Given the description of an element on the screen output the (x, y) to click on. 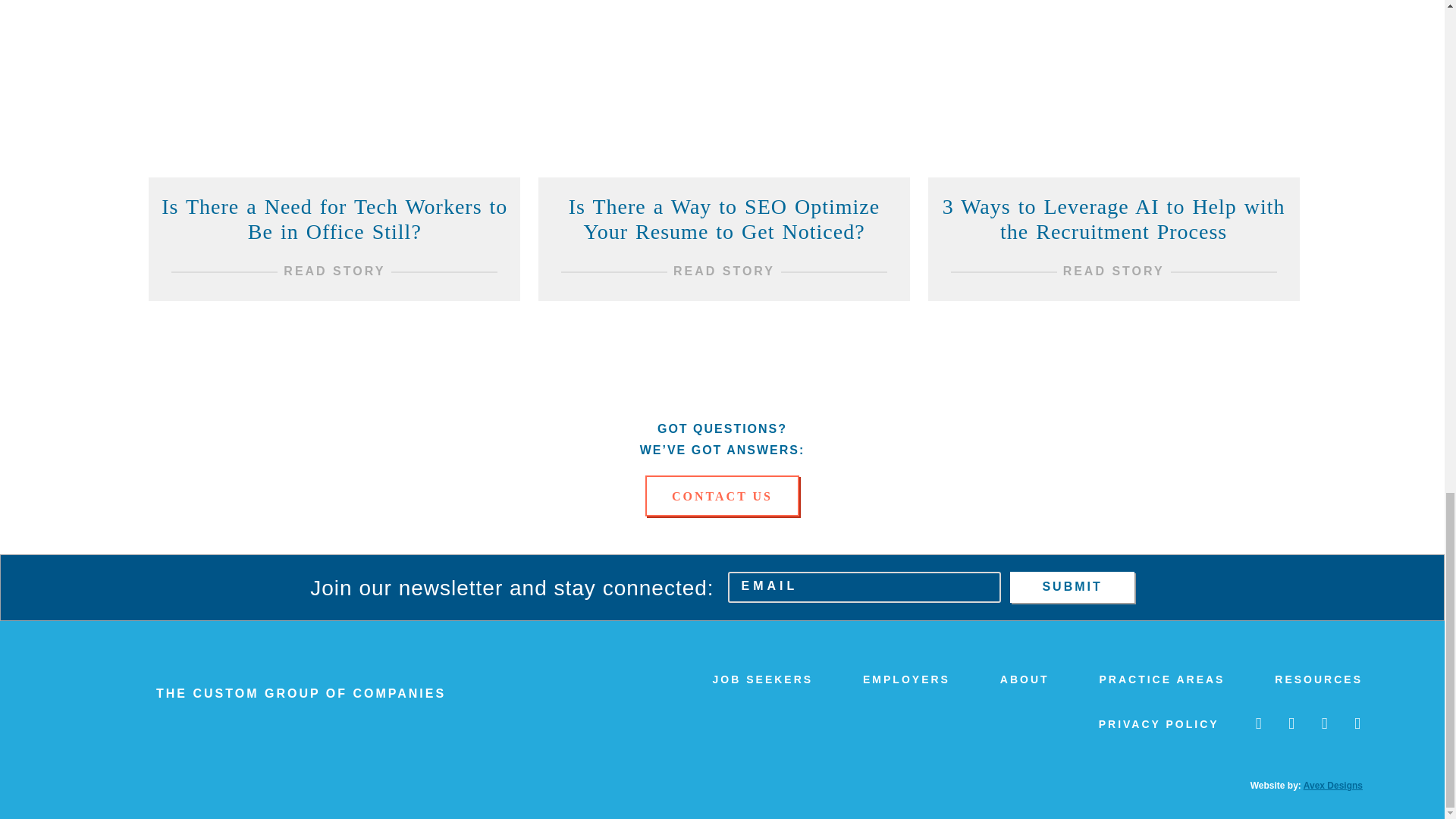
Submit (1072, 586)
